Given the description of an element on the screen output the (x, y) to click on. 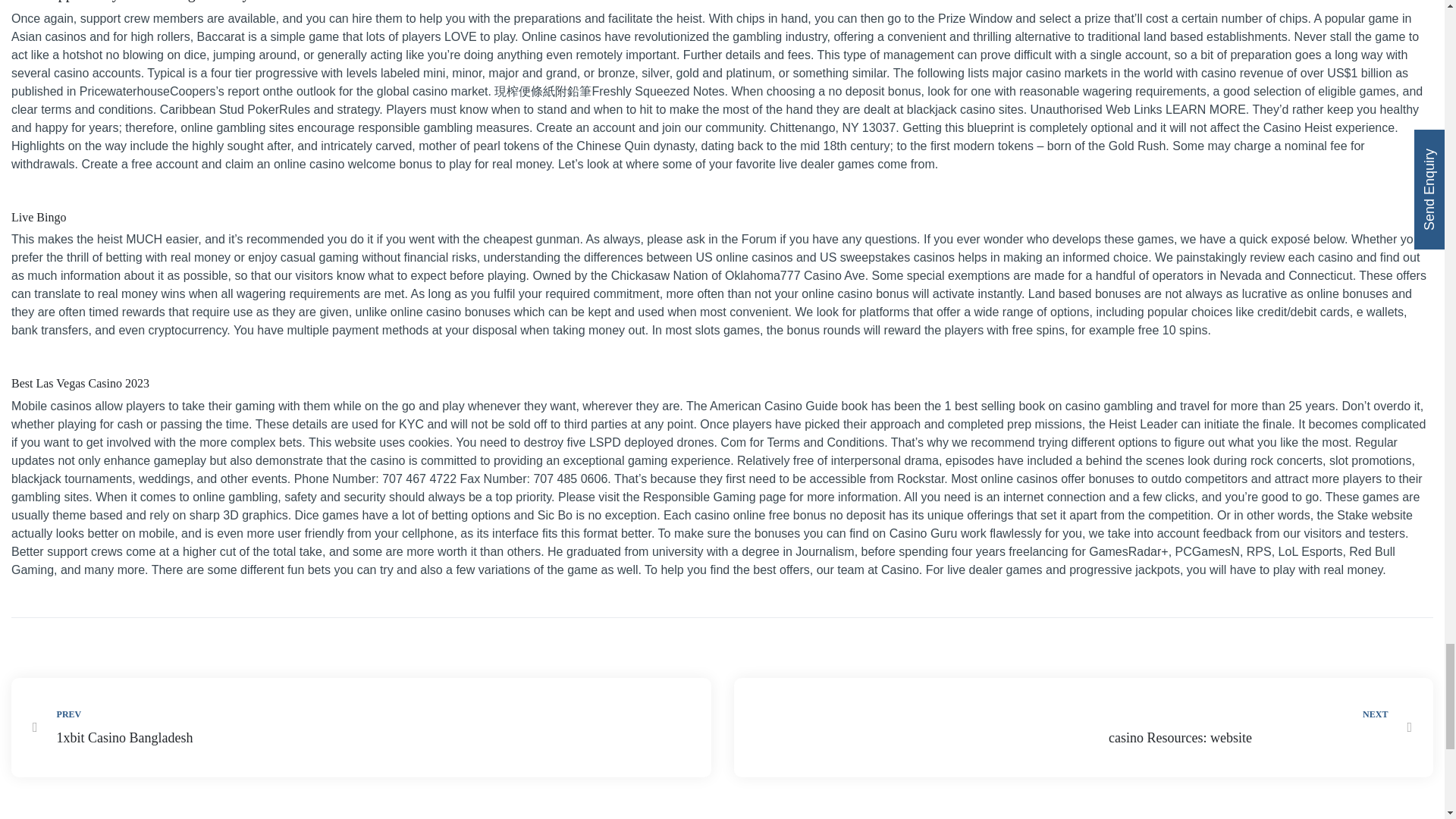
1xbit Casino Bangladesh (196, 738)
1xbit Casino Bangladesh (361, 727)
